Given the description of an element on the screen output the (x, y) to click on. 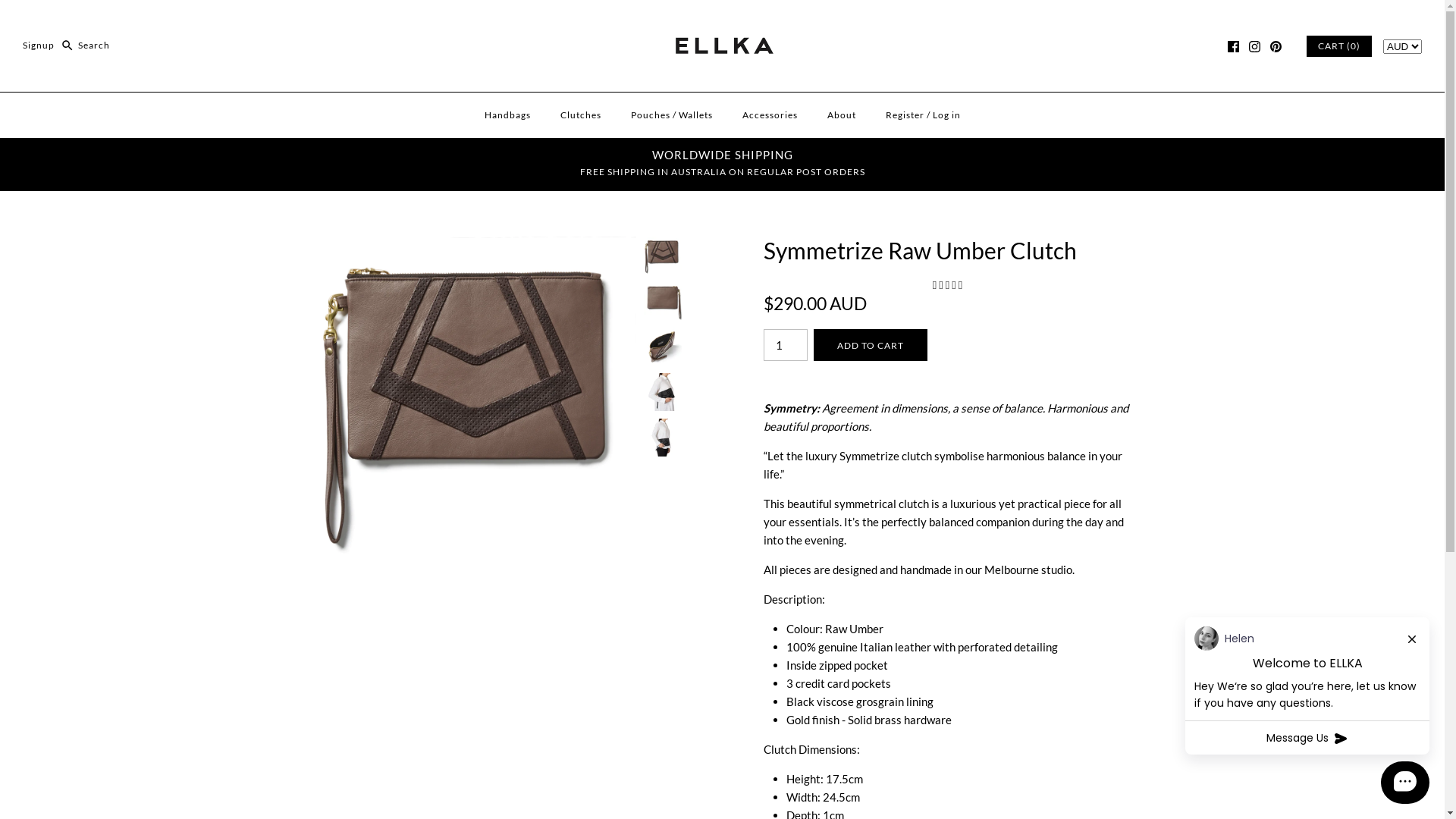
Register Element type: text (904, 114)
CART (0) Element type: text (1338, 45)
Handbags Element type: text (506, 114)
Symmetrize Raw Umber Clutch Element type: hover (661, 255)
Signup Element type: text (38, 44)
Symmetrize Raw Umber Clutch Element type: hover (661, 301)
Symmetrize Raw Umber Clutch Element type: hover (661, 392)
About Element type: text (840, 114)
Log in Element type: text (946, 114)
Instagram Element type: text (1254, 46)
Pinterest Element type: text (1275, 46)
Symmetrize Raw Umber Clutch Element type: hover (661, 346)
ELLKA Element type: hover (722, 24)
Add to Cart Element type: text (869, 344)
Facebook Element type: text (1233, 46)
Accessories Element type: text (769, 114)
Pouches / Wallets Element type: text (671, 114)
Clutches Element type: text (580, 114)
Symmetrize Raw Umber Clutch Element type: hover (661, 437)
Symmetrize Raw Umber Clutch Element type: hover (473, 245)
